Given the description of an element on the screen output the (x, y) to click on. 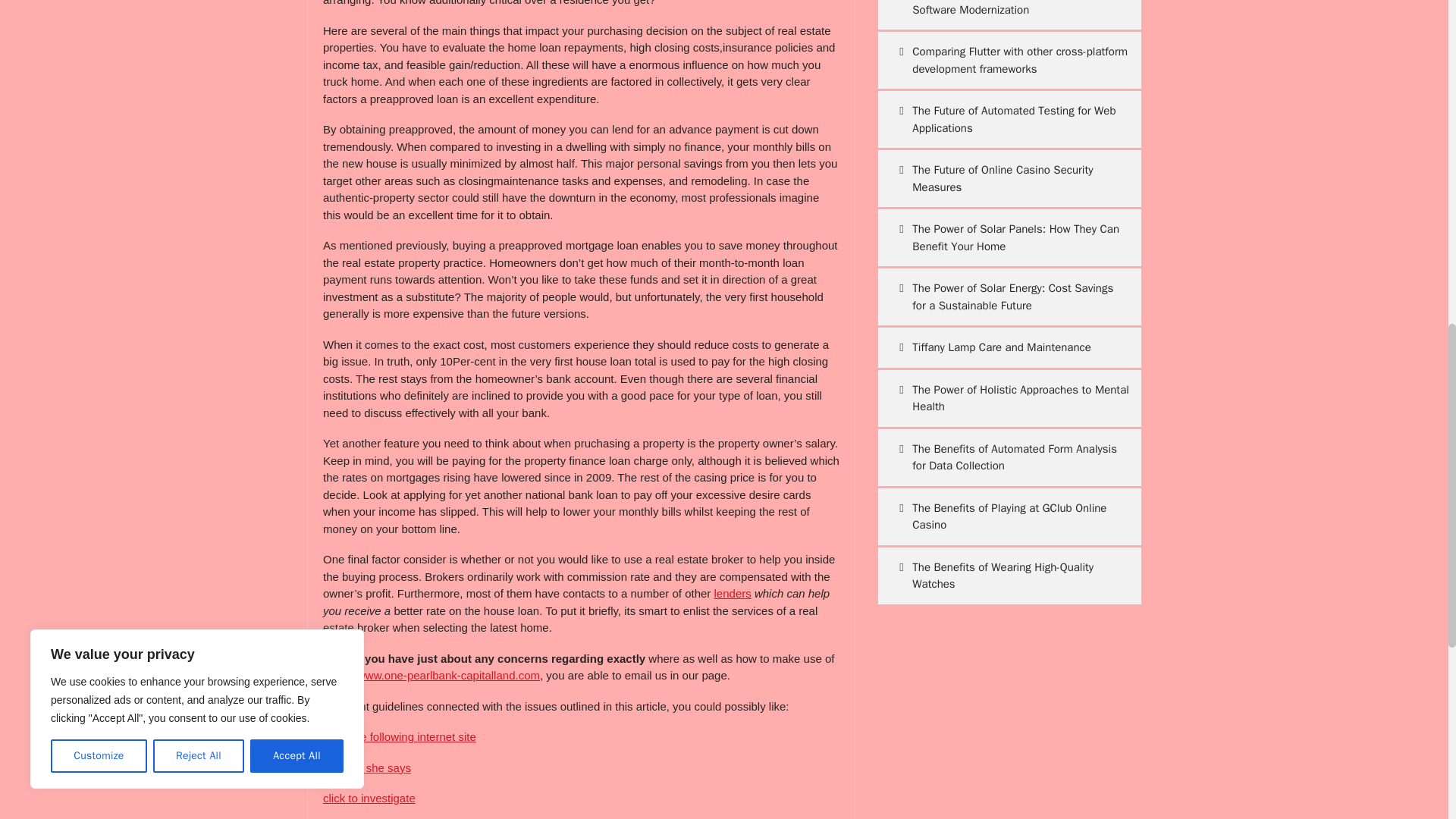
lenders (732, 593)
try what she says (366, 767)
Click the following internet site (399, 736)
